Given the description of an element on the screen output the (x, y) to click on. 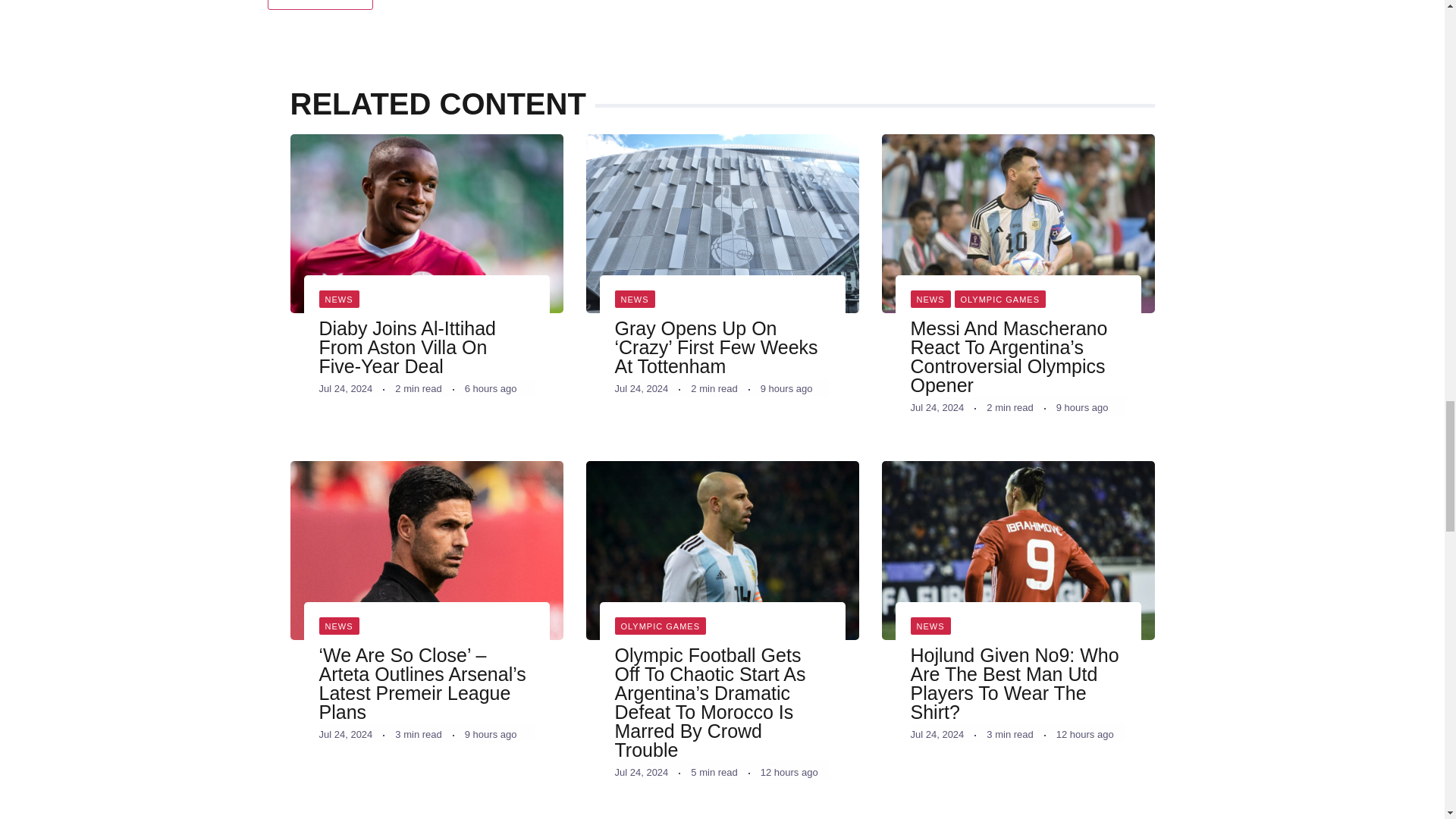
Post Comment (319, 4)
